Given the description of an element on the screen output the (x, y) to click on. 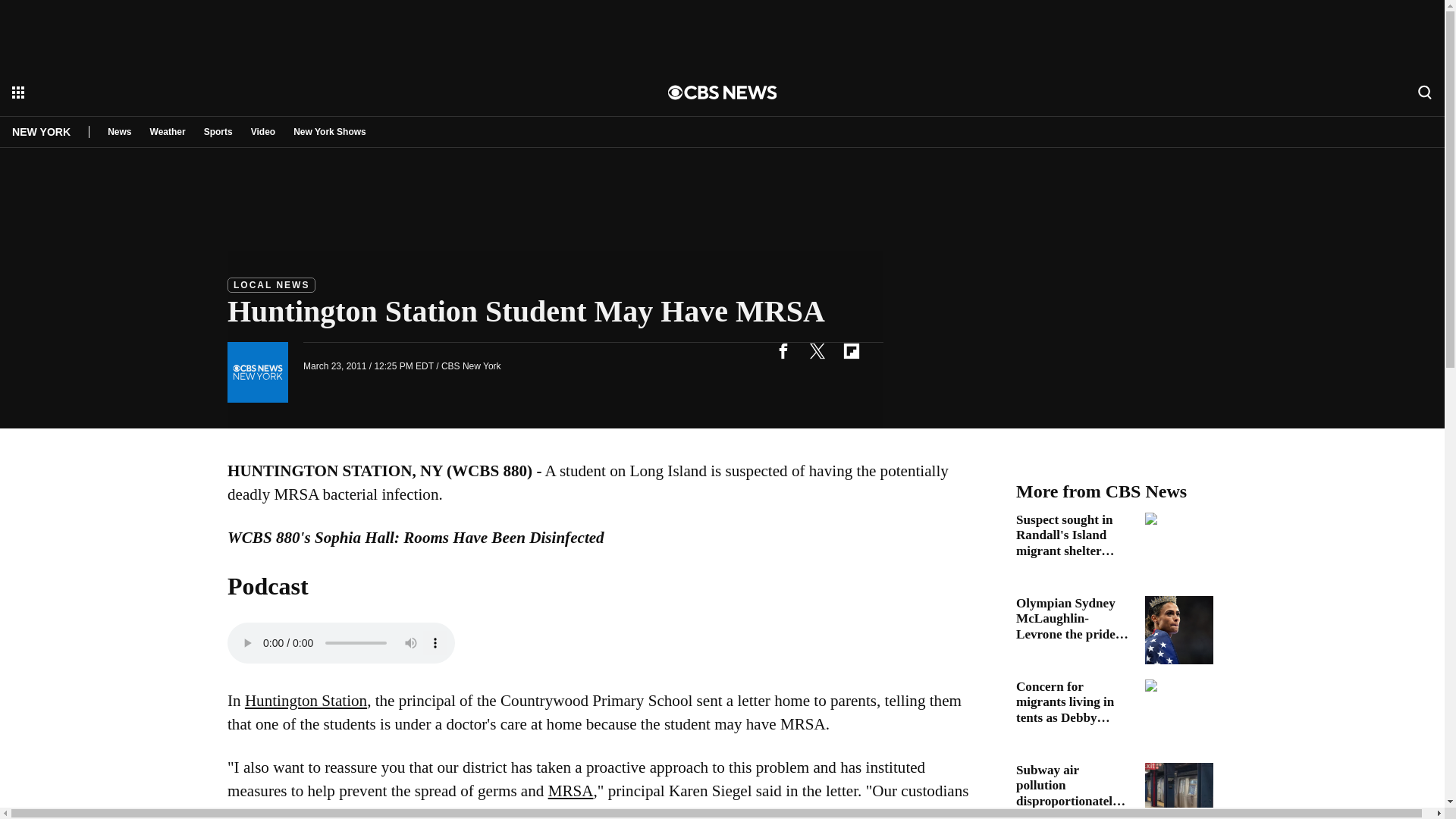
facebook (782, 350)
flipboard (850, 350)
twitter (816, 350)
